Given the description of an element on the screen output the (x, y) to click on. 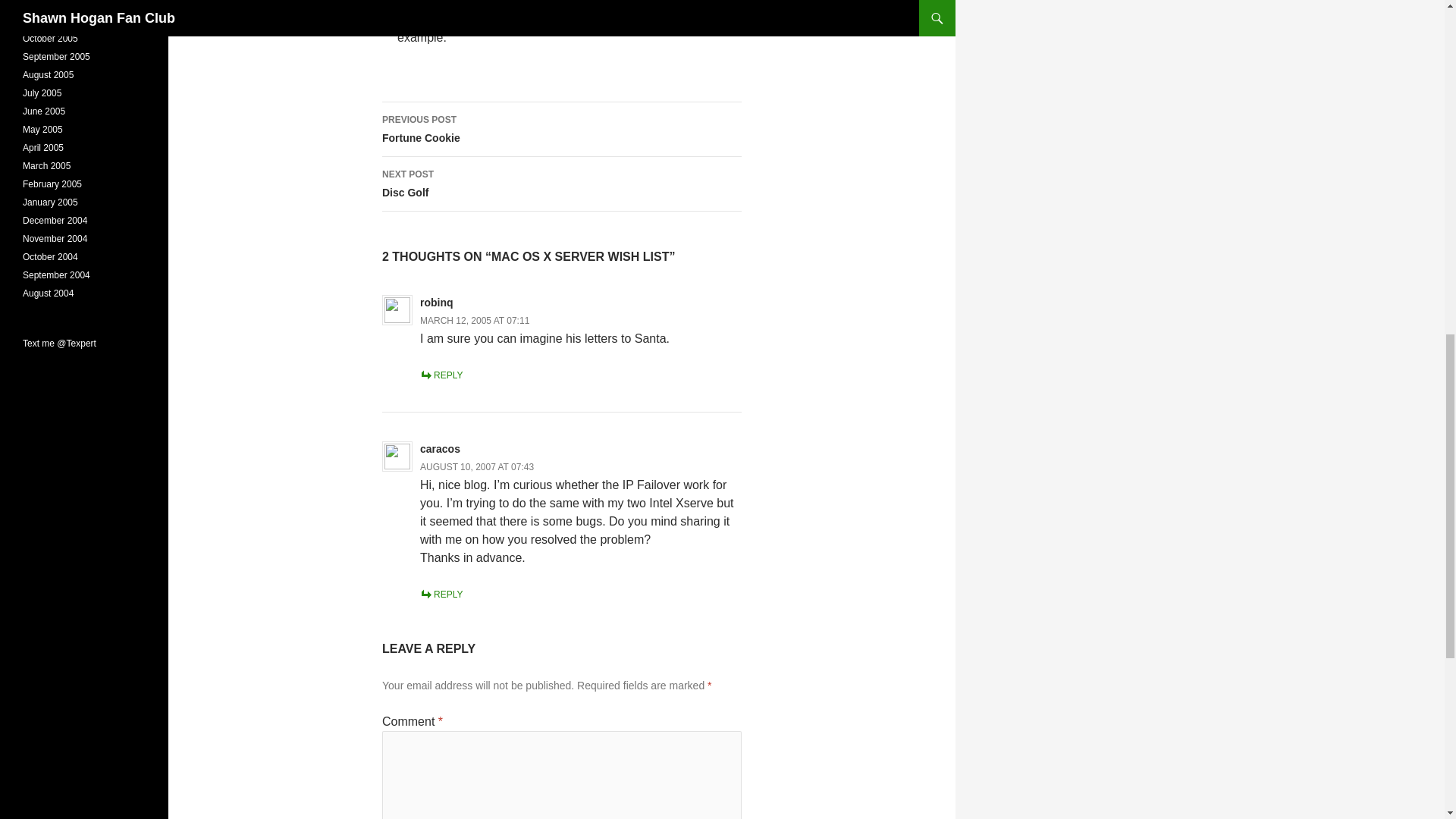
REPLY (441, 375)
robinq (561, 184)
AUGUST 10, 2007 AT 07:43 (436, 302)
MARCH 12, 2005 AT 07:11 (477, 466)
REPLY (561, 129)
